Given the description of an element on the screen output the (x, y) to click on. 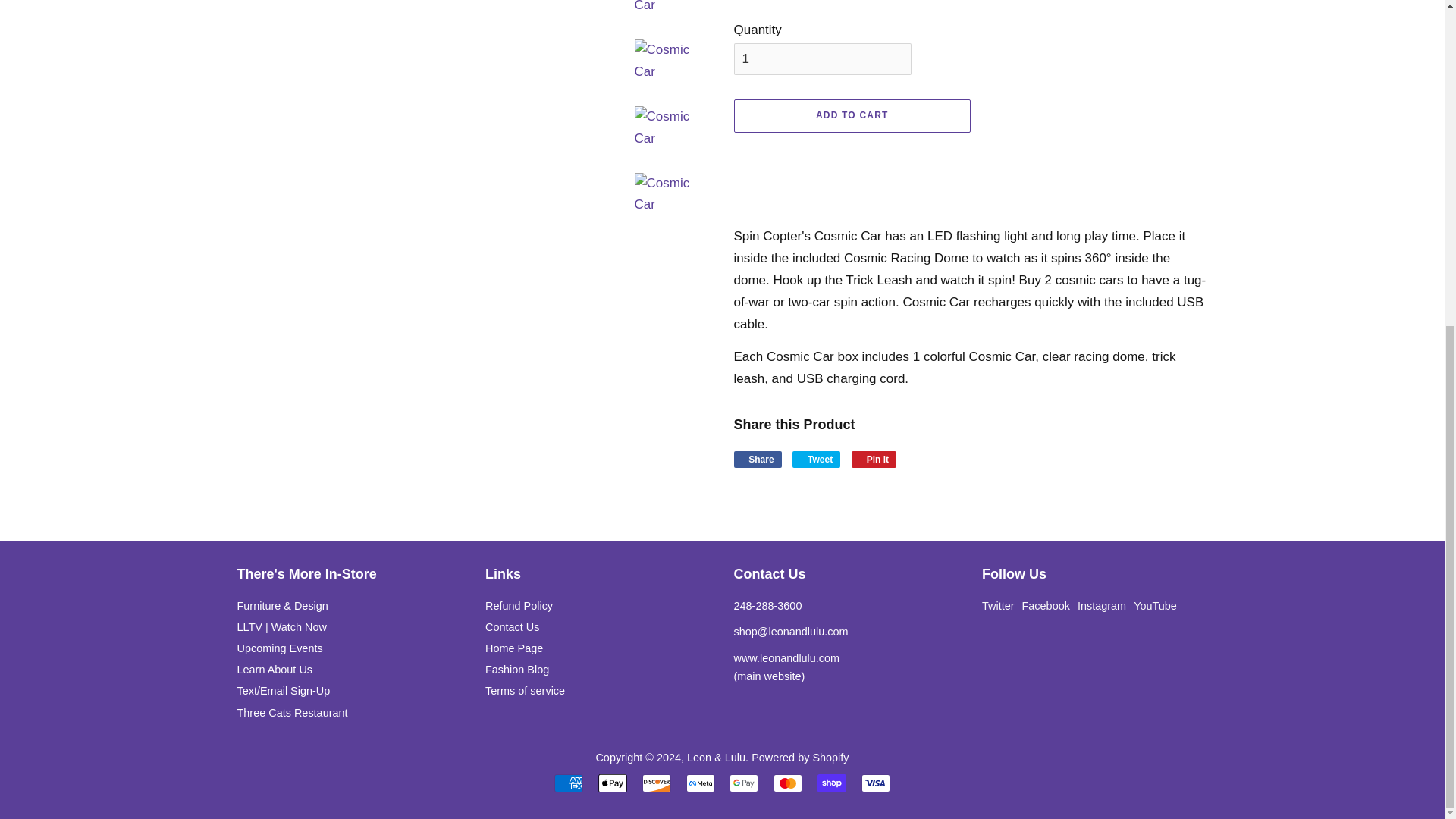
Visa (875, 782)
Pin on Pinterest (873, 459)
American Express (568, 782)
1 (822, 59)
Share on Facebook (757, 459)
Mastercard (787, 782)
Google Pay (743, 782)
Shop Pay (830, 782)
Meta Pay (699, 782)
Apple Pay (612, 782)
